Given the description of an element on the screen output the (x, y) to click on. 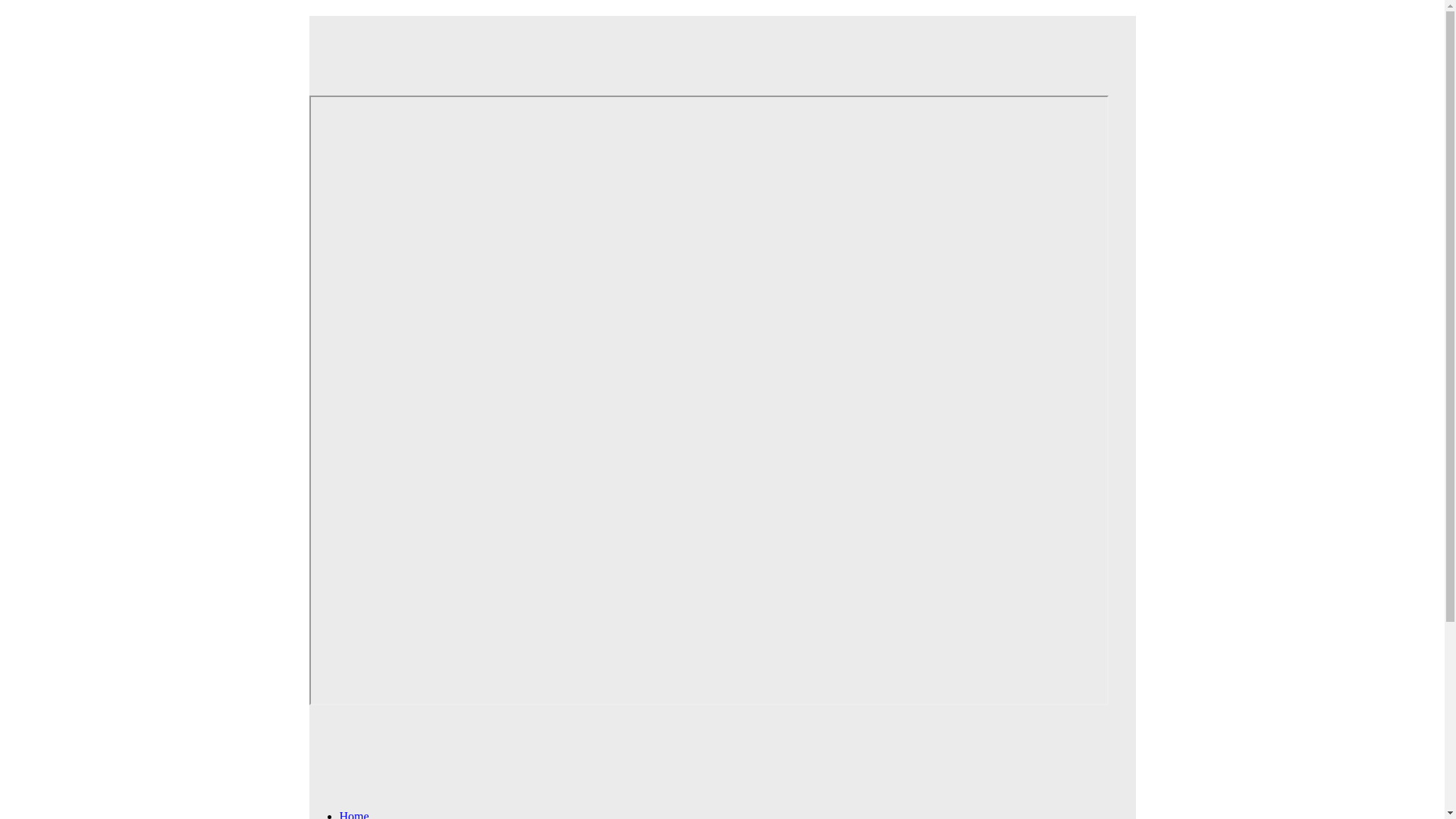
Web Hosting from Just Host Element type: text (707, 44)
